Given the description of an element on the screen output the (x, y) to click on. 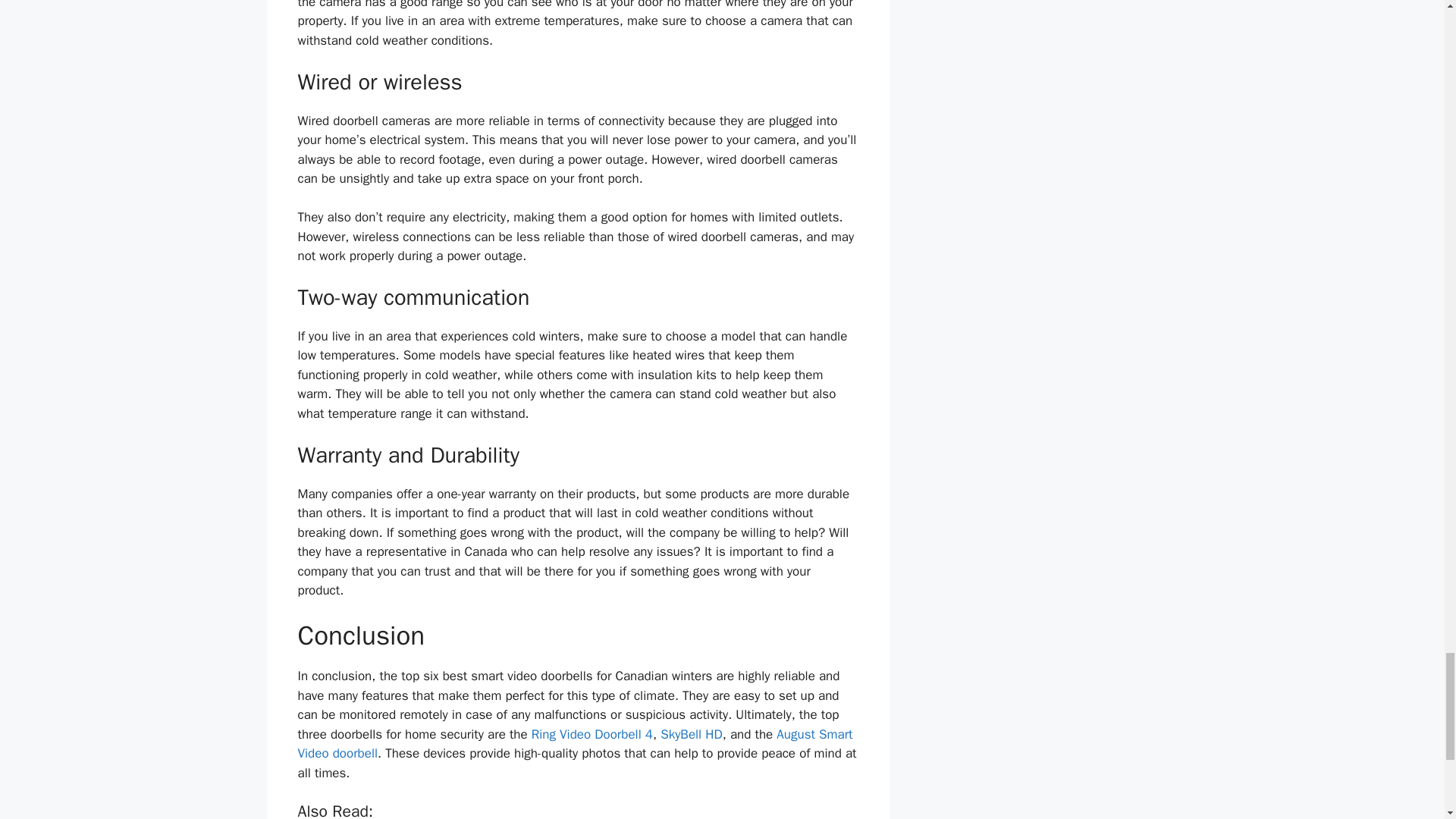
SkyBell HD (691, 734)
Ring Video Doorbell 4 (591, 734)
